Given the description of an element on the screen output the (x, y) to click on. 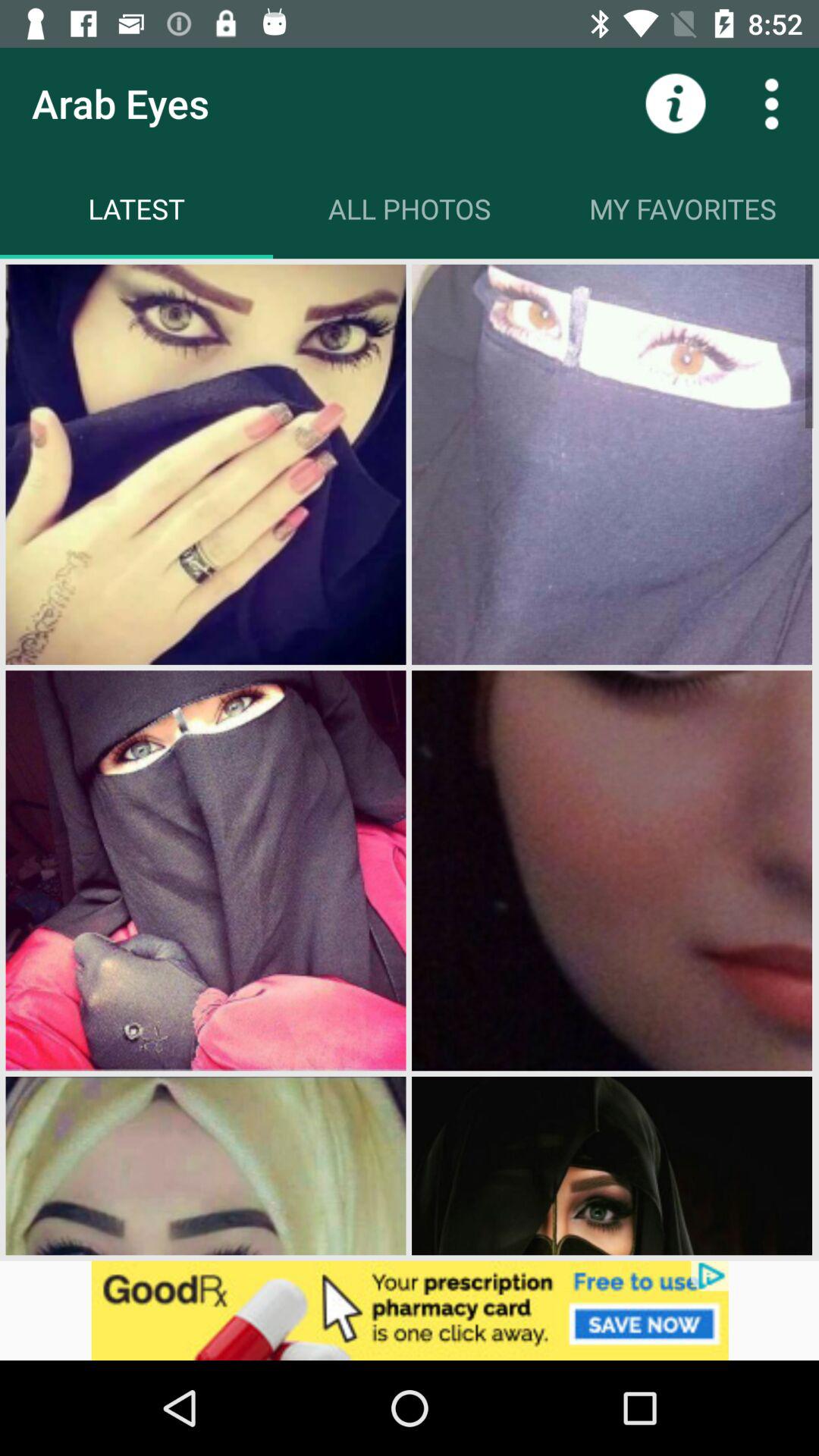
adventisment page (409, 1310)
